Given the description of an element on the screen output the (x, y) to click on. 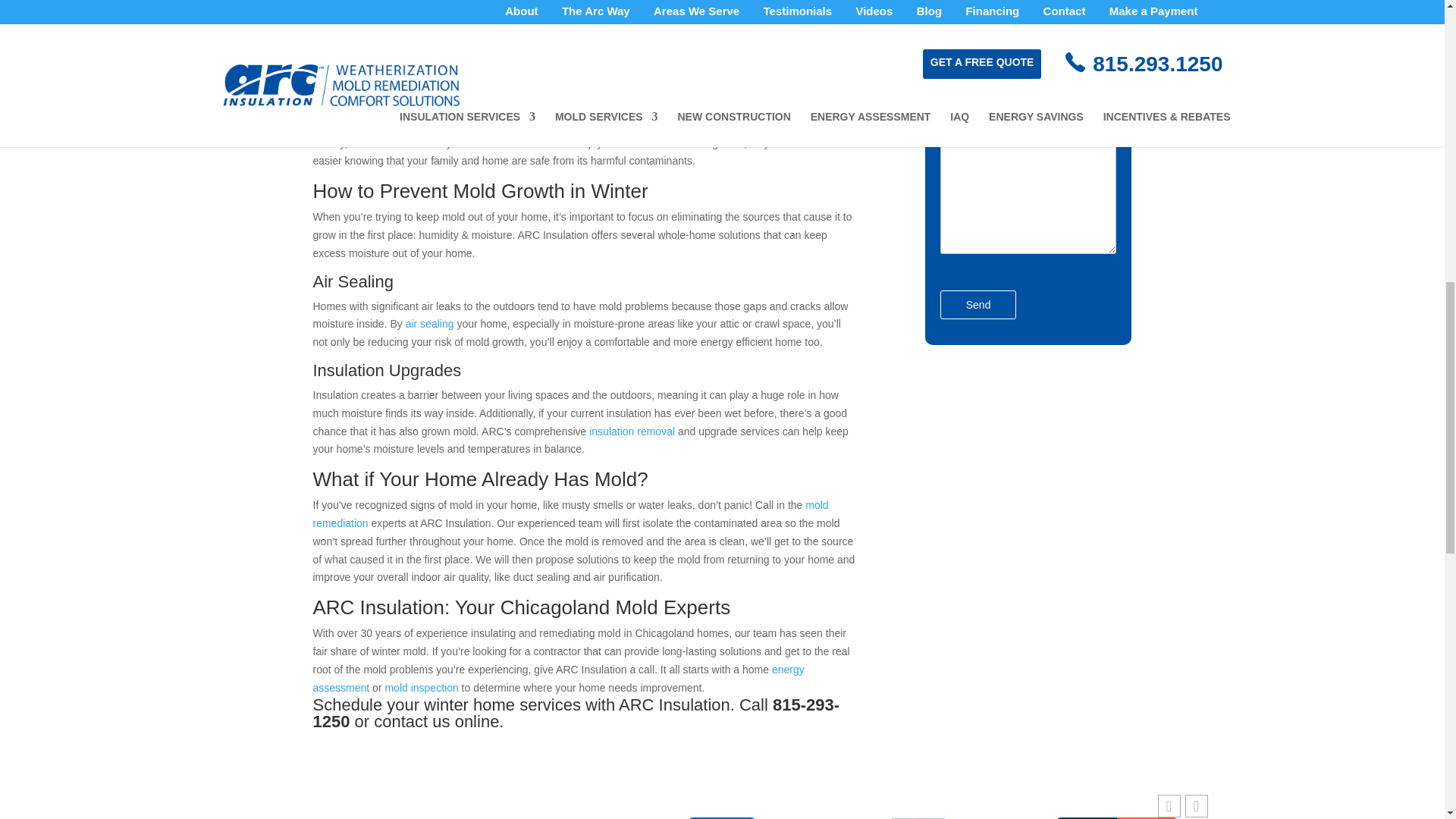
Angi 2022 (1114, 818)
Send (978, 304)
BBB (918, 818)
Best Pick (722, 818)
